Given the description of an element on the screen output the (x, y) to click on. 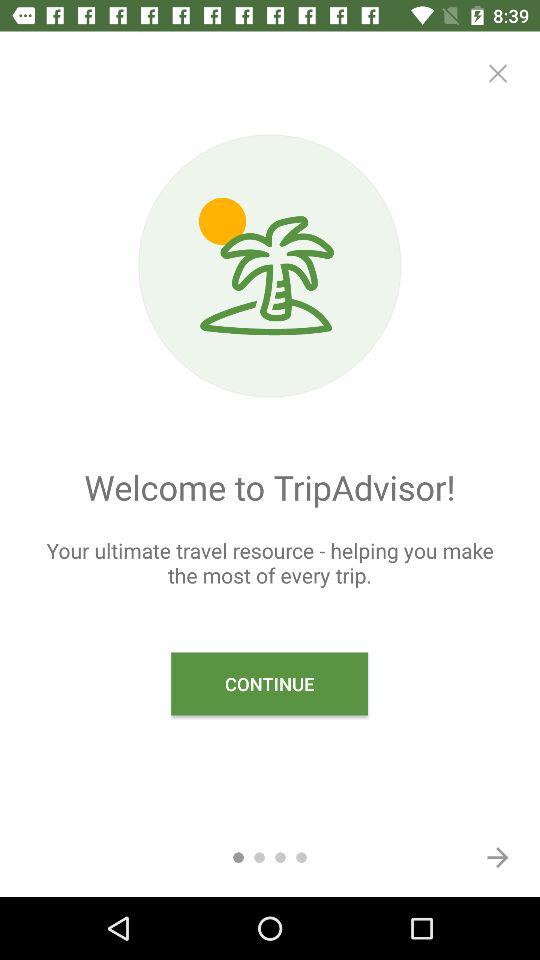
select item at the top right corner (497, 73)
